Given the description of an element on the screen output the (x, y) to click on. 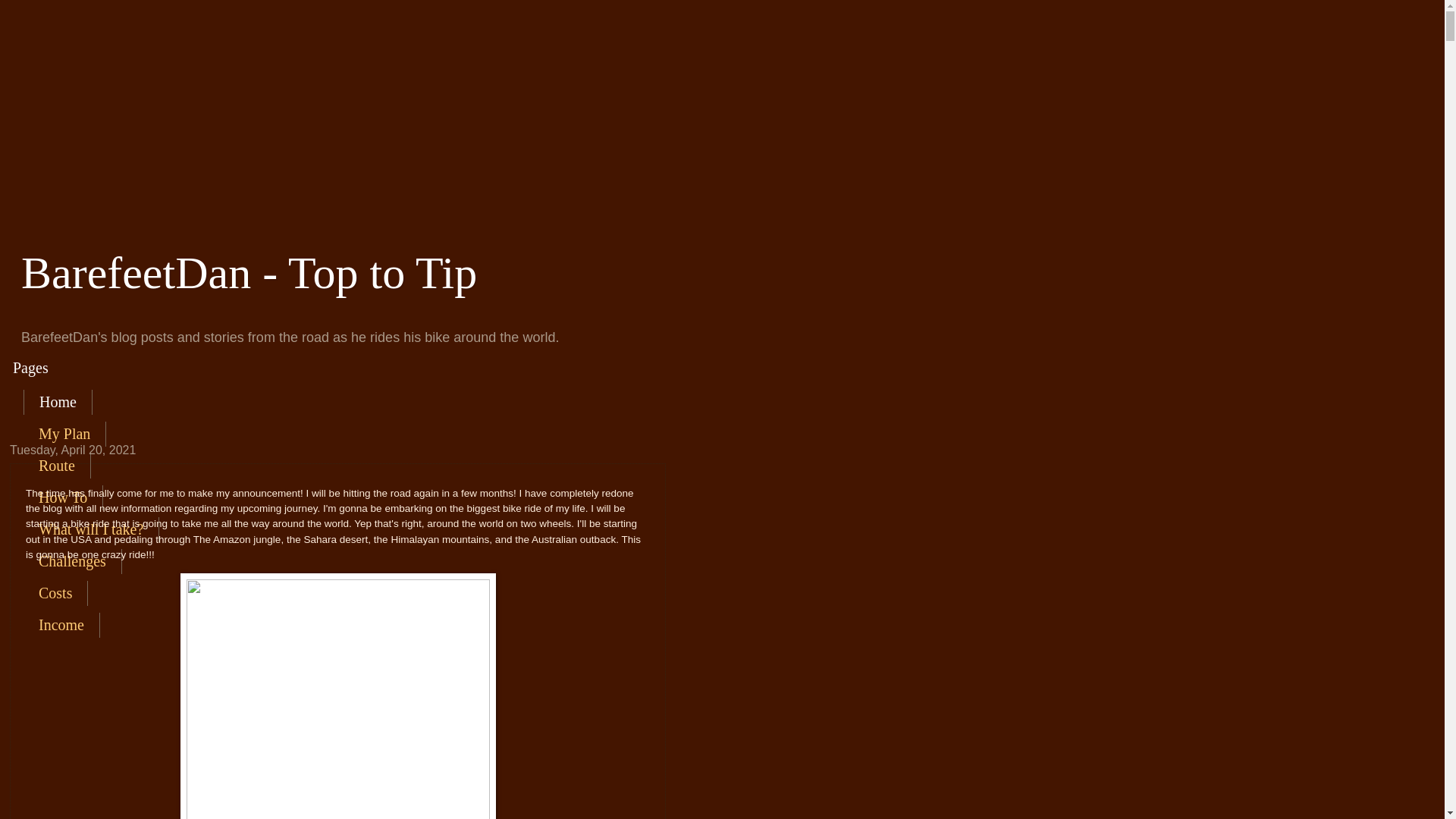
Home Element type: text (57, 401)
What will I take? Element type: text (91, 529)
How To Element type: text (63, 497)
My Plan Element type: text (64, 433)
Income Element type: text (61, 624)
Challenges Element type: text (72, 561)
Route Element type: text (57, 465)
Costs Element type: text (55, 592)
